Given the description of an element on the screen output the (x, y) to click on. 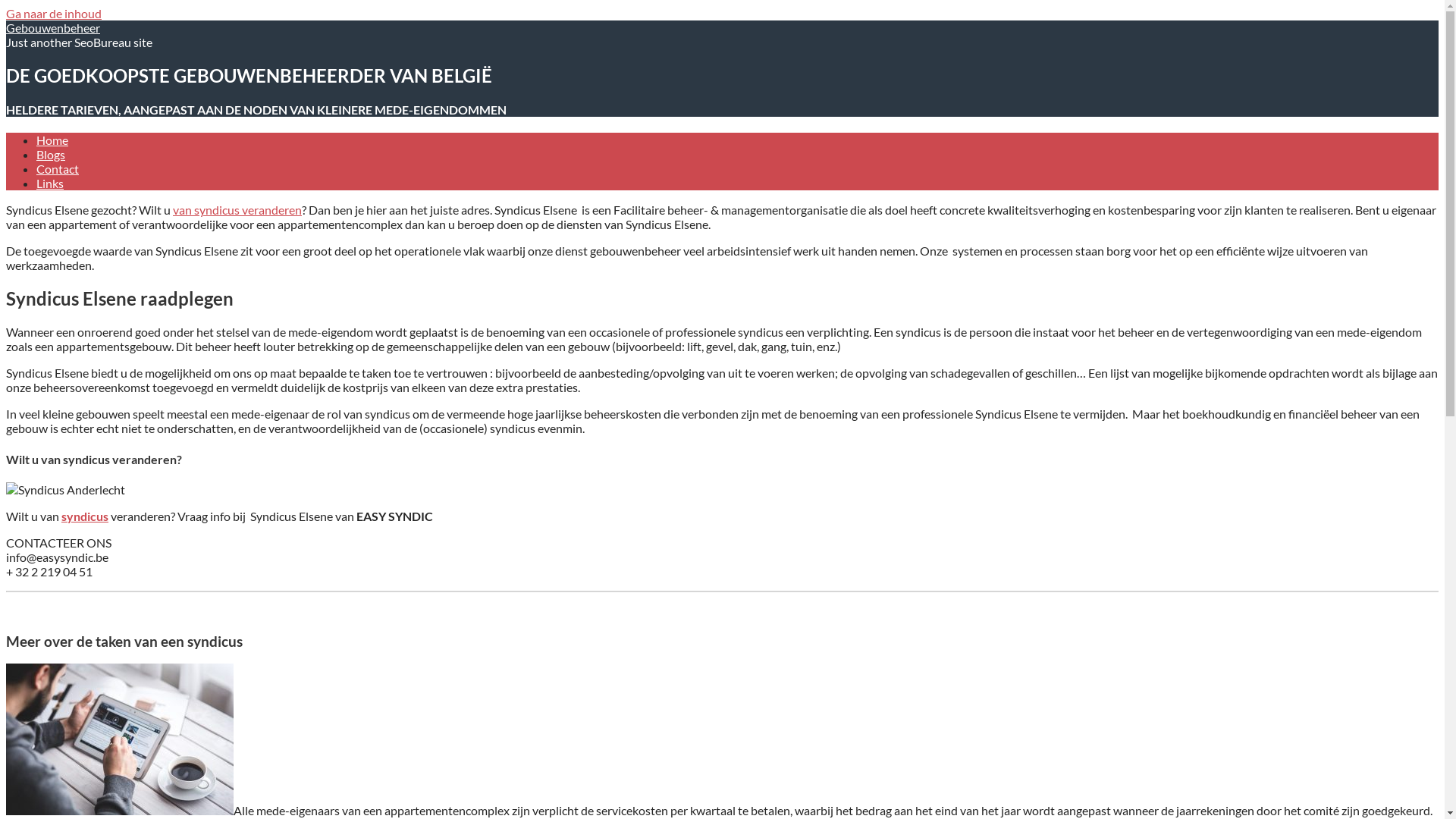
Home Element type: text (52, 139)
syndicus Element type: text (84, 515)
Contact Element type: text (57, 168)
Links Element type: text (49, 182)
Blogs Element type: text (50, 154)
Ga naar de inhoud Element type: text (53, 13)
Gebouwenbeheer Element type: text (53, 27)
van syndicus veranderen Element type: text (236, 209)
